Given the description of an element on the screen output the (x, y) to click on. 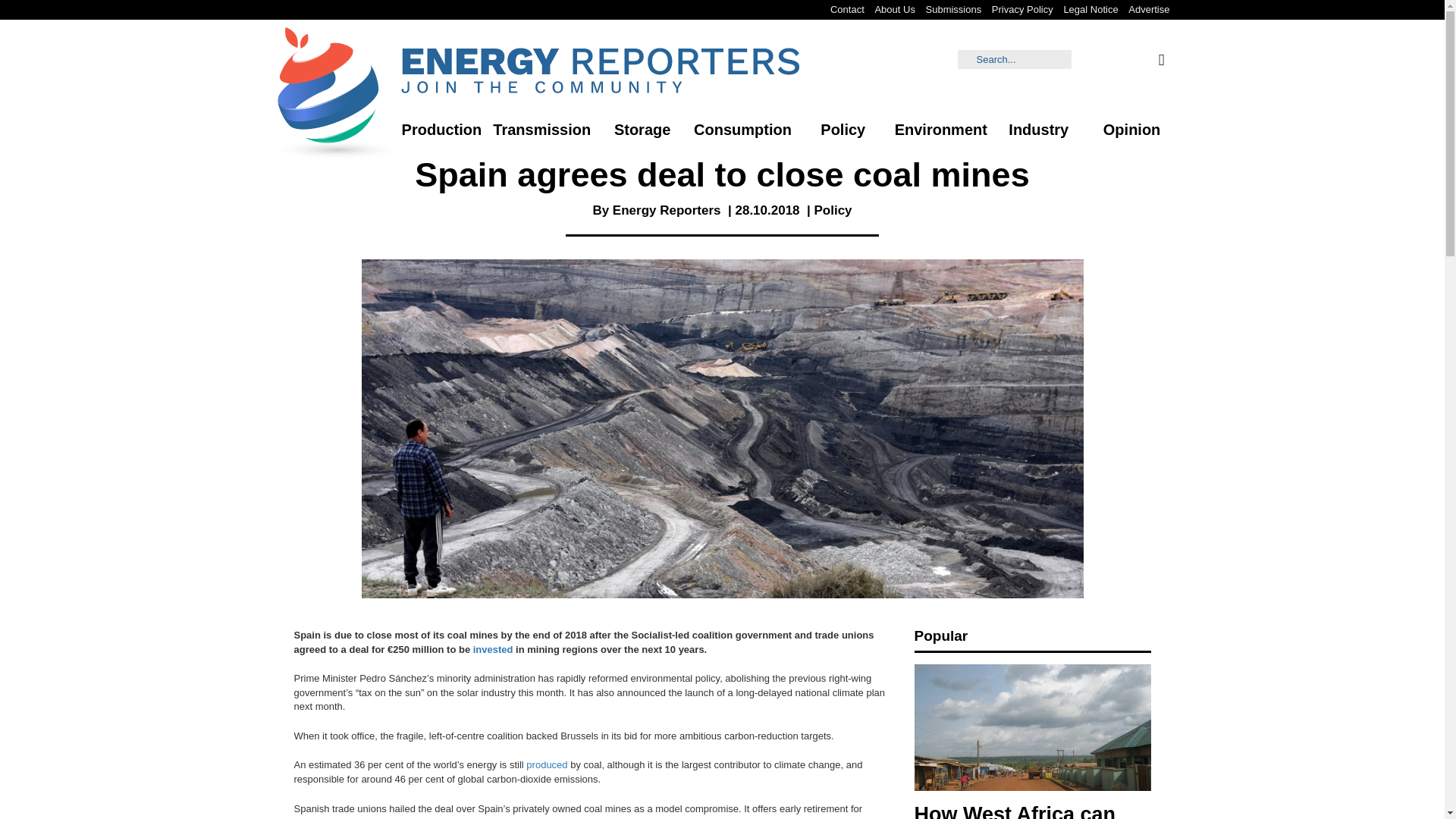
Policy (832, 210)
Twitter (1136, 59)
Search (1014, 58)
RSS (1160, 59)
Twitter (1136, 59)
Contact (847, 9)
Advertise (1148, 9)
Search (43, 15)
Facebook (1087, 59)
